Given the description of an element on the screen output the (x, y) to click on. 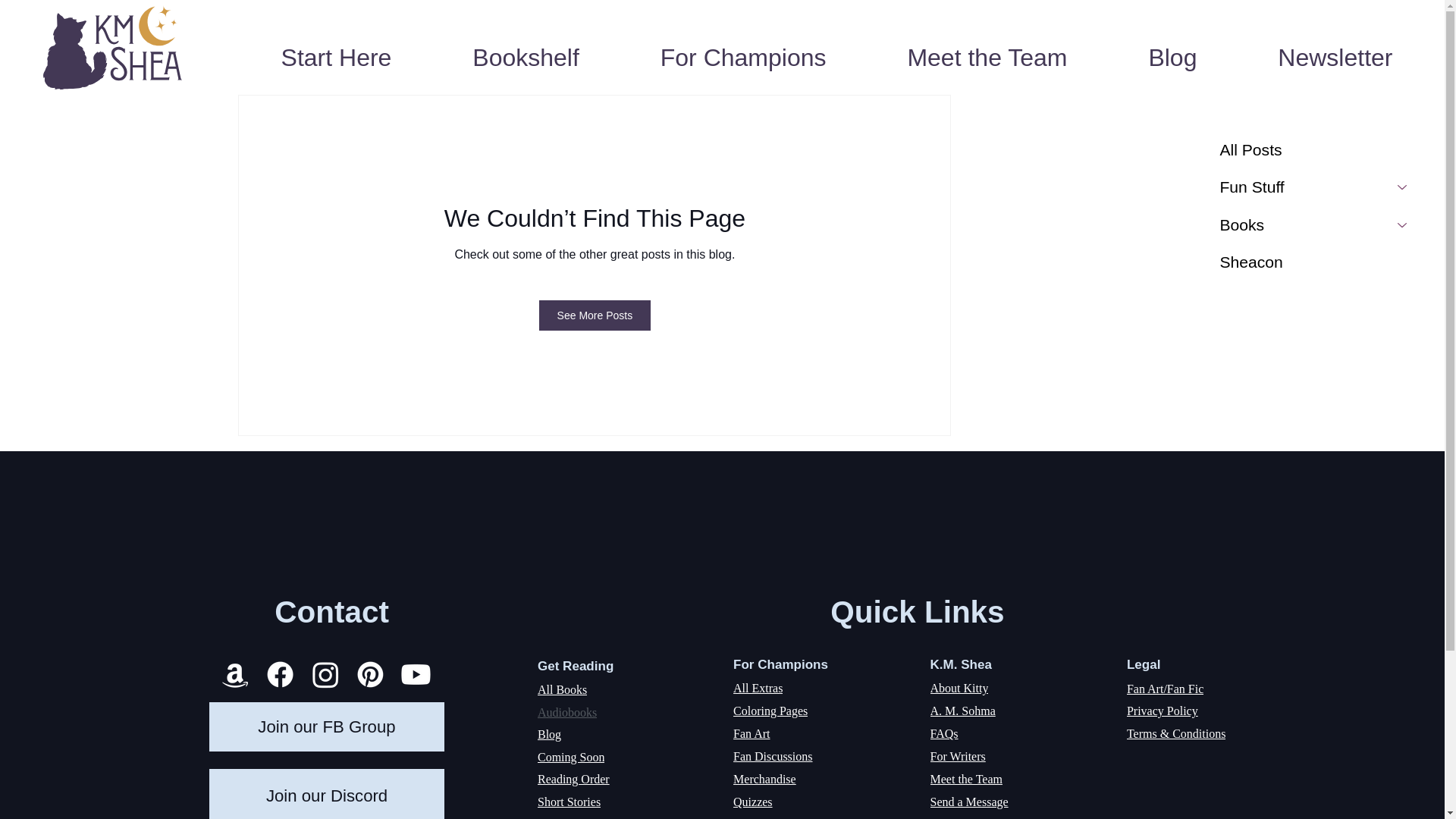
Start Here (336, 58)
See More Posts (594, 315)
Newsletter (1334, 58)
Sheacon (1316, 262)
Fun Stuff (1297, 187)
Blog (1172, 58)
All Posts (1316, 149)
